Given the description of an element on the screen output the (x, y) to click on. 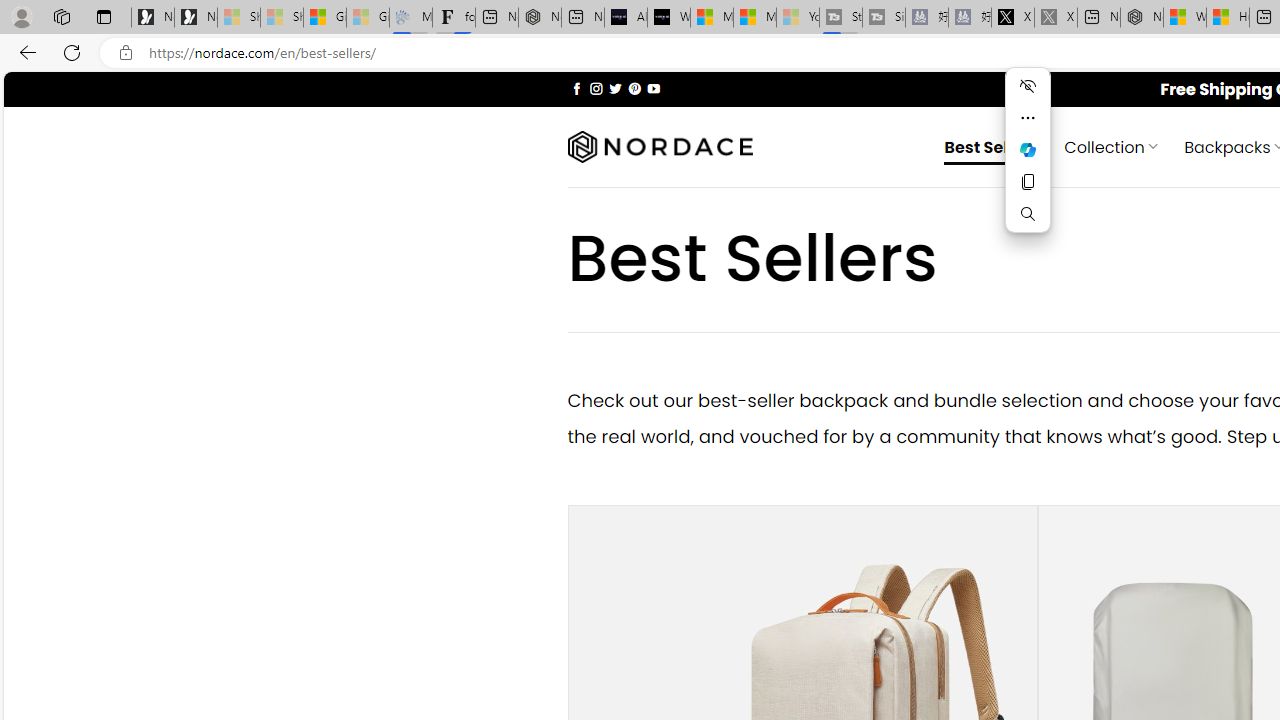
Nordace - My Account (1142, 17)
